Given the description of an element on the screen output the (x, y) to click on. 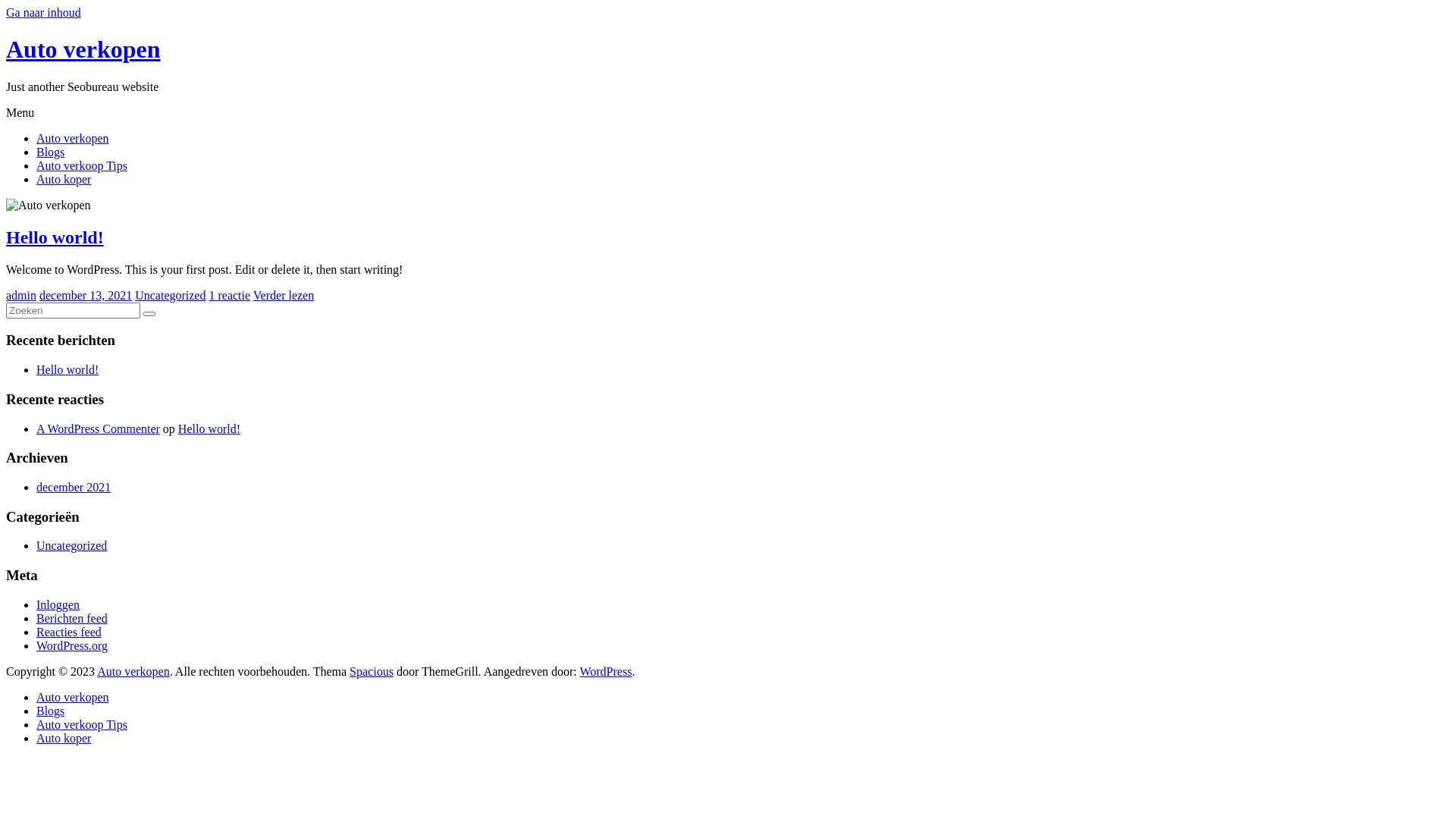
Hello world! Element type: text (67, 369)
Berichten feed Element type: text (71, 617)
Blogs Element type: text (50, 151)
admin Element type: text (21, 294)
Auto verkoop Tips Element type: text (81, 165)
Reacties feed Element type: text (68, 631)
1 reactie Element type: text (229, 294)
Hello world! Element type: text (54, 237)
WordPress.org Element type: text (71, 645)
Uncategorized Element type: text (169, 294)
Uncategorized Element type: text (71, 545)
Auto verkopen Element type: text (72, 137)
Auto verkopen Element type: text (133, 671)
Spacious Element type: text (371, 671)
december 13, 2021 Element type: text (85, 294)
WordPress Element type: text (605, 671)
Verder lezen Element type: text (283, 294)
Blogs Element type: text (50, 710)
Auto koper Element type: text (63, 178)
A WordPress Commenter Element type: text (98, 428)
Auto verkopen Element type: text (72, 696)
december 2021 Element type: text (73, 486)
Hello world! Element type: text (209, 428)
Auto verkopen Element type: text (83, 48)
Inloggen Element type: text (57, 604)
Ga naar inhoud Element type: text (43, 12)
Auto koper Element type: text (63, 737)
Auto verkoop Tips Element type: text (81, 724)
